Given the description of an element on the screen output the (x, y) to click on. 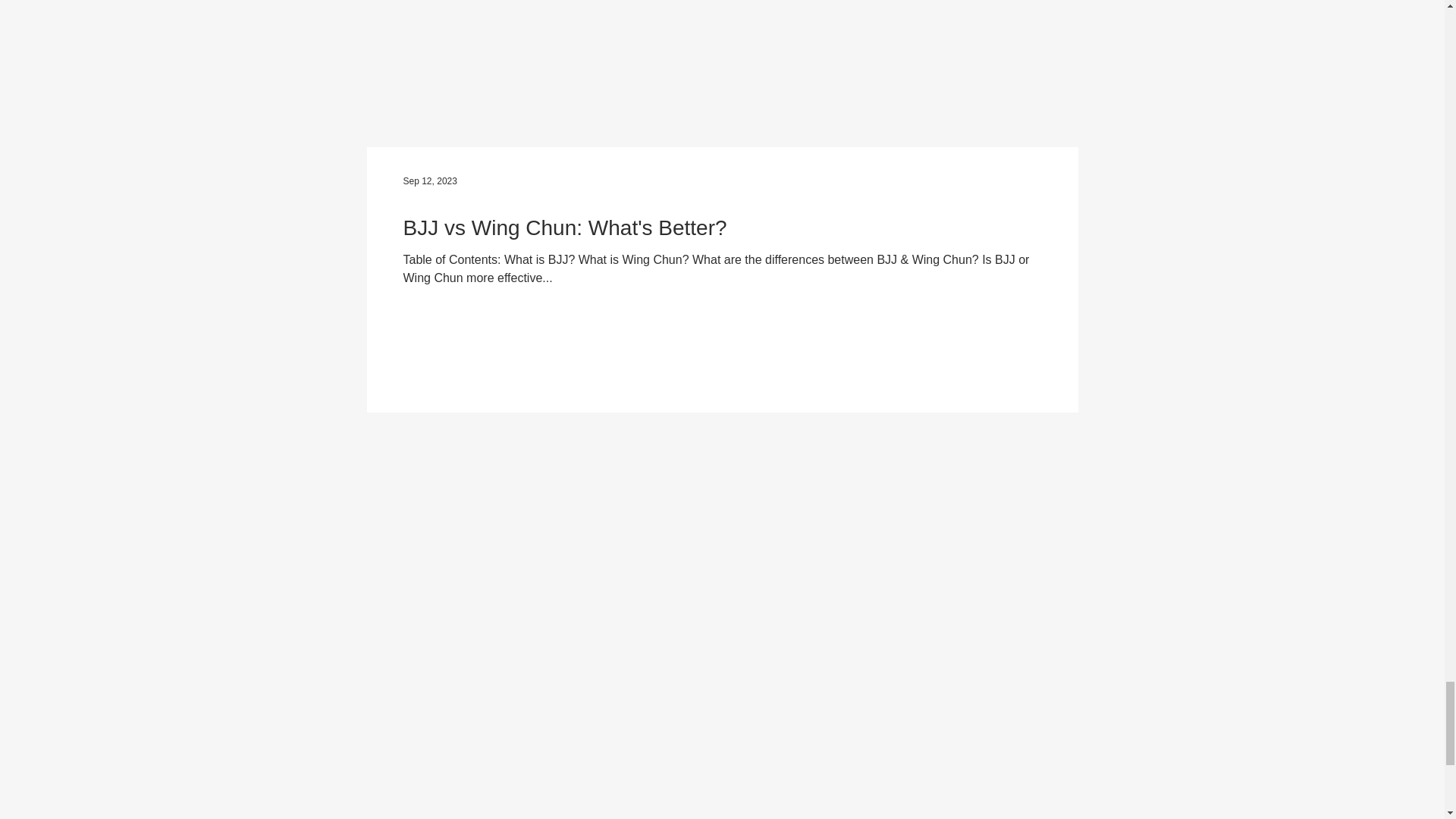
Sep 12, 2023 (430, 181)
